Given the description of an element on the screen output the (x, y) to click on. 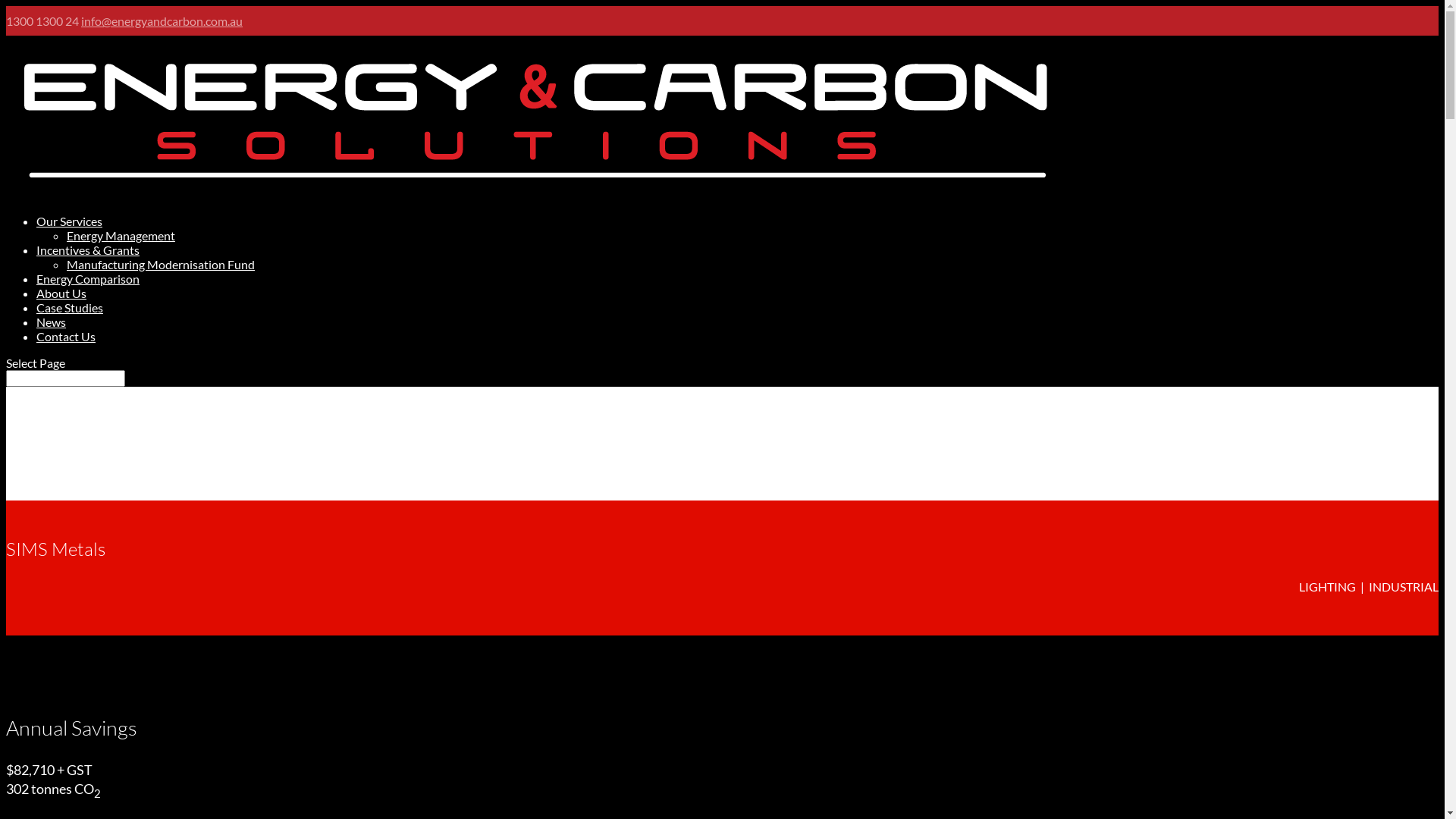
Incentives & Grants Element type: text (87, 249)
Search for: Element type: hover (65, 378)
Contact Us Element type: text (65, 336)
Manufacturing Modernisation Fund Element type: text (160, 264)
News Element type: text (50, 321)
Energy Comparison Element type: text (87, 278)
About Us Element type: text (61, 292)
Our Services Element type: text (69, 220)
Energy Management Element type: text (120, 235)
info@energyandcarbon.com.au Element type: text (161, 20)
Case Studies Element type: text (69, 307)
